Given the description of an element on the screen output the (x, y) to click on. 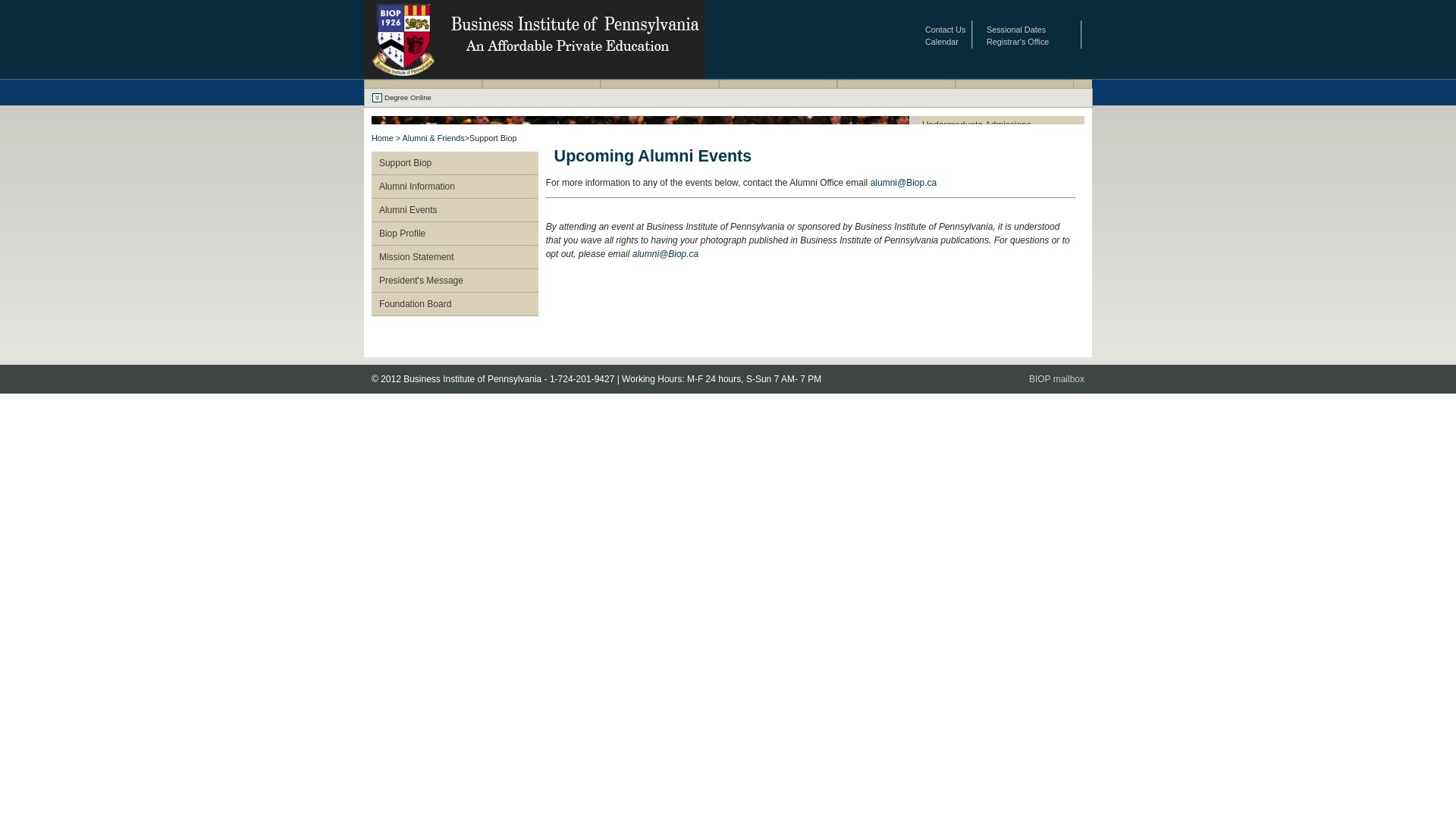
About Biop Element type: text (423, 91)
My Biop Element type: text (1014, 91)
Alumni Events Element type: text (458, 209)
Alumni Information Element type: text (458, 186)
Registrar's Office Element type: text (1017, 41)
Home Element type: text (382, 137)
Alumni & Friends Element type: text (896, 91)
BIOP mailbox Element type: text (1056, 378)
Foundation Board Element type: text (458, 303)
Contact Us Element type: text (945, 29)
Online Education Element type: text (777, 91)
Academics Element type: text (659, 91)
President's Message Element type: text (458, 280)
Admissions Element type: text (541, 91)
alumni@Biop.ca Element type: text (665, 253)
Support Biop Element type: text (458, 162)
Alumni & Friends Element type: text (433, 137)
Business Institute of Pennsylvania Element type: hover (534, 73)
alumni@Biop.ca Element type: text (903, 182)
Mission Statement Element type: text (458, 256)
Calendar Element type: text (941, 41)
Sessional Dates Element type: text (1015, 29)
Undergraduate Admissions Element type: text (1000, 125)
Biop Profile Element type: text (458, 233)
